Given the description of an element on the screen output the (x, y) to click on. 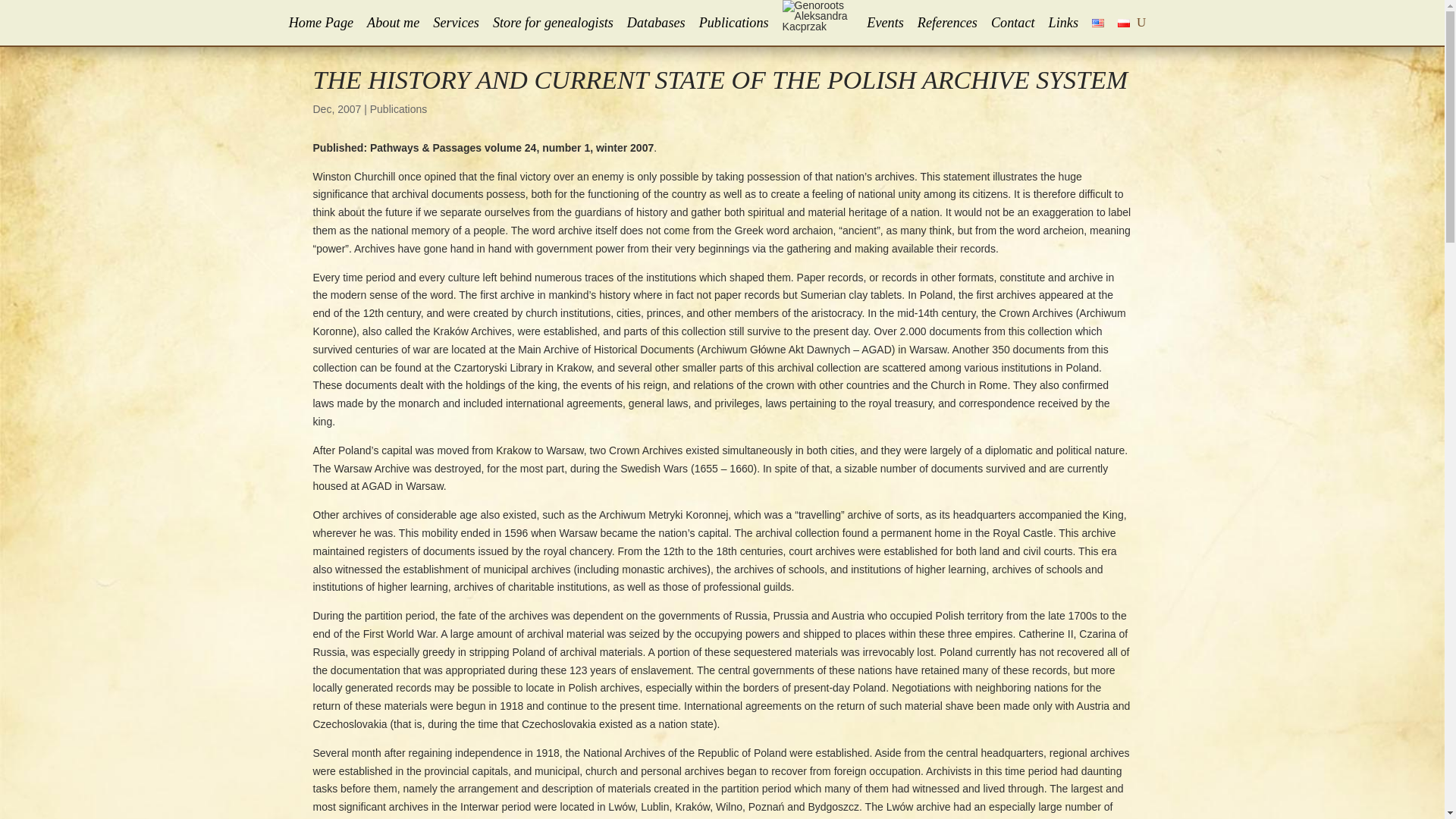
References (946, 22)
About me (392, 22)
Contact (1013, 22)
Services (455, 22)
Home Page (320, 22)
Store for genealogists (552, 22)
Databases (656, 22)
Publications (398, 109)
Publications (733, 22)
